Given the description of an element on the screen output the (x, y) to click on. 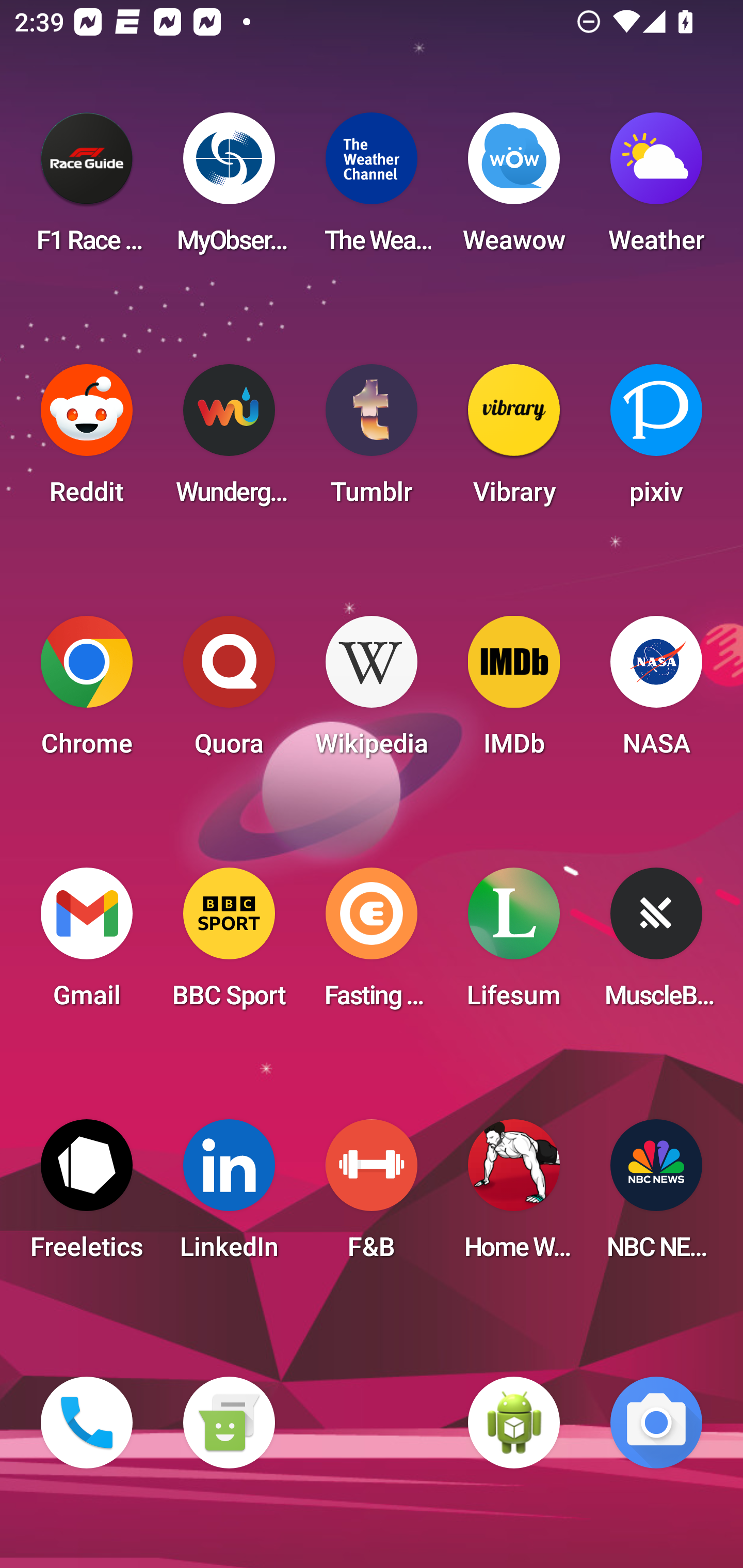
F1 Race Guide (86, 188)
MyObservatory (228, 188)
The Weather Channel (371, 188)
Weawow (513, 188)
Weather (656, 188)
Reddit (86, 440)
Wunderground (228, 440)
Tumblr (371, 440)
Vibrary (513, 440)
pixiv (656, 440)
Chrome (86, 692)
Quora (228, 692)
Wikipedia (371, 692)
IMDb (513, 692)
NASA (656, 692)
Gmail (86, 943)
BBC Sport (228, 943)
Fasting Coach (371, 943)
Lifesum (513, 943)
MuscleBooster (656, 943)
Freeletics (86, 1195)
LinkedIn (228, 1195)
F&B (371, 1195)
Home Workout (513, 1195)
NBC NEWS (656, 1195)
Phone (86, 1422)
Messaging (228, 1422)
WebView Browser Tester (513, 1422)
Camera (656, 1422)
